Given the description of an element on the screen output the (x, y) to click on. 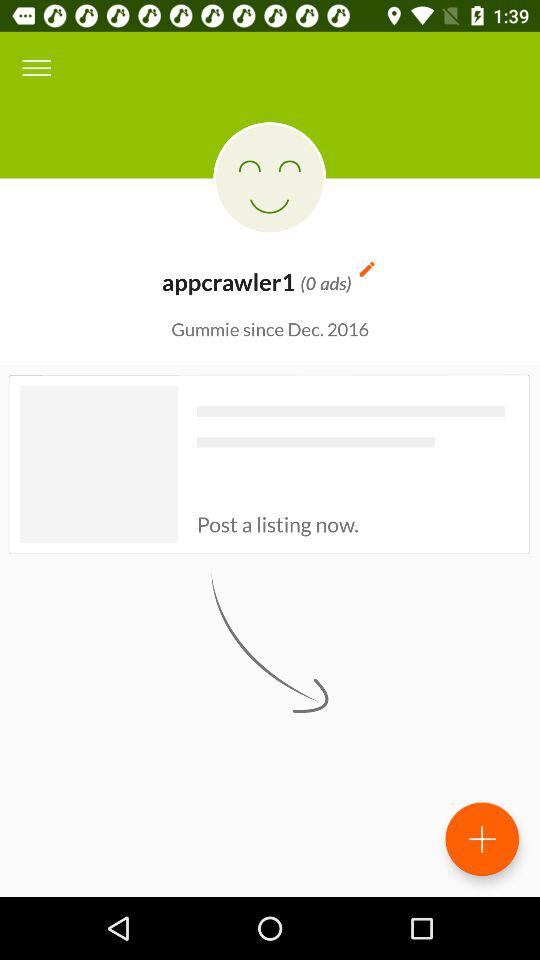
tap icon at the top left corner (36, 68)
